Given the description of an element on the screen output the (x, y) to click on. 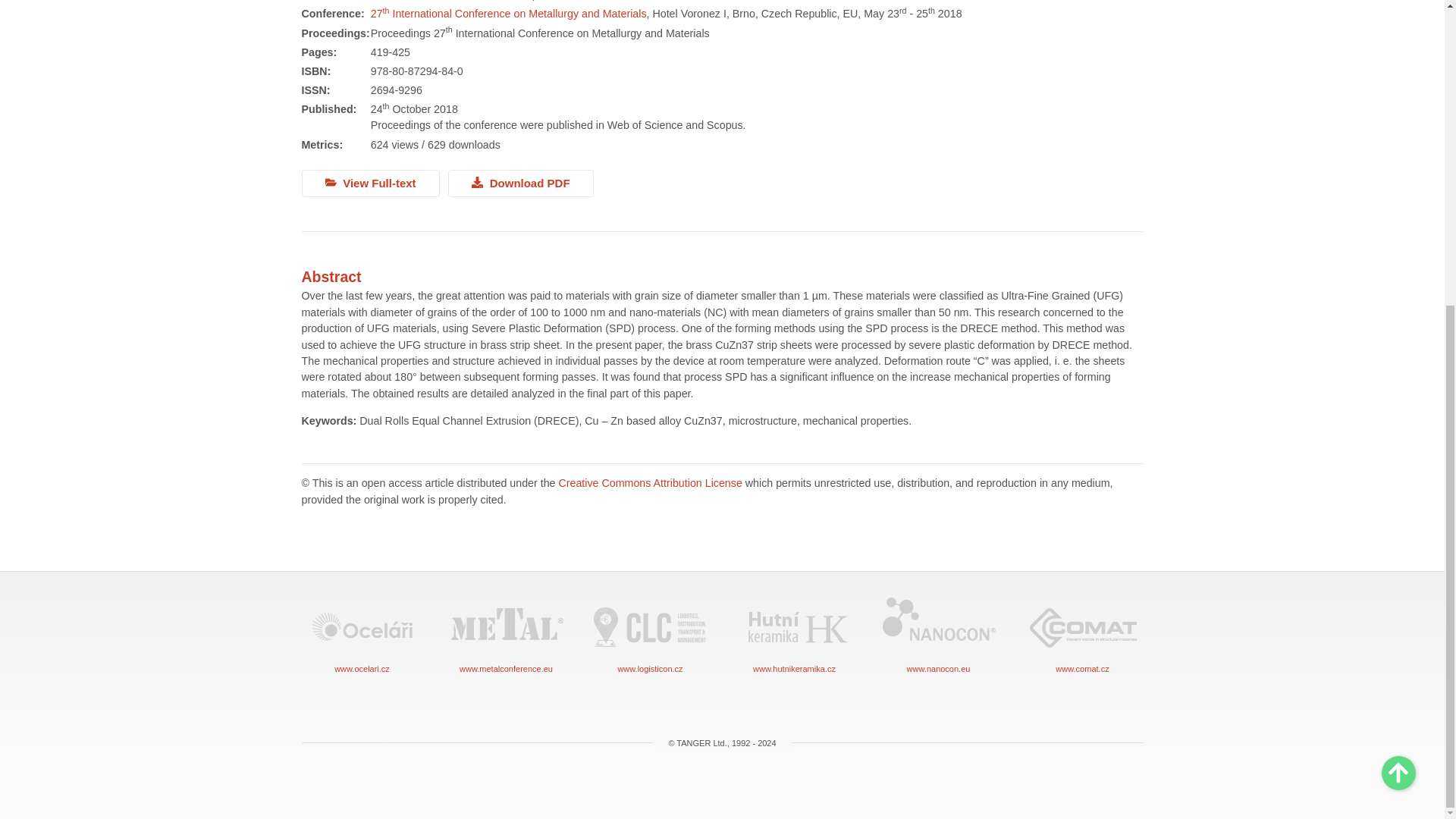
www.metalconference.eu (506, 634)
Scroll to Top (1398, 292)
Download PDF (521, 183)
27th International Conference on Metallurgy and Materials (508, 13)
Scroll to Top (1398, 292)
Creative Commons Attribution License (649, 482)
www.logisticon.cz (650, 634)
www.ocelari.cz (362, 634)
www.nanocon.eu (937, 634)
www.hutnikeramika.cz (794, 634)
www.comat.cz (1082, 634)
View Full-text (370, 183)
